Given the description of an element on the screen output the (x, y) to click on. 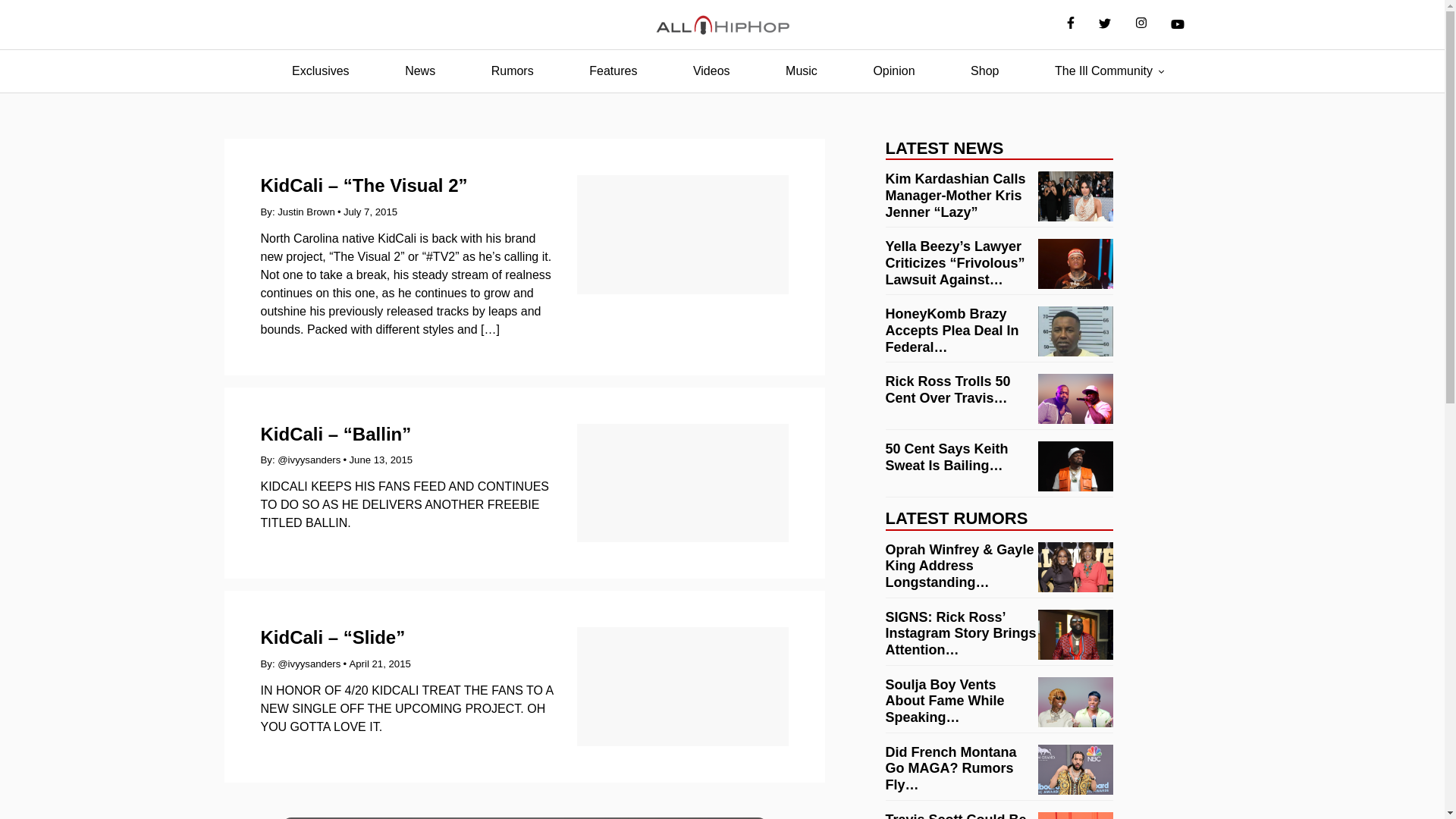
The Ill Community (1103, 70)
Features (612, 70)
Justin Brown (306, 211)
AllHipHop (722, 25)
July 7, 2015 (370, 211)
Exclusives (320, 70)
Videos (711, 70)
News (419, 70)
share (737, 818)
Opinion (893, 70)
Music (801, 70)
Rumors (512, 70)
Shop (984, 70)
